Given the description of an element on the screen output the (x, y) to click on. 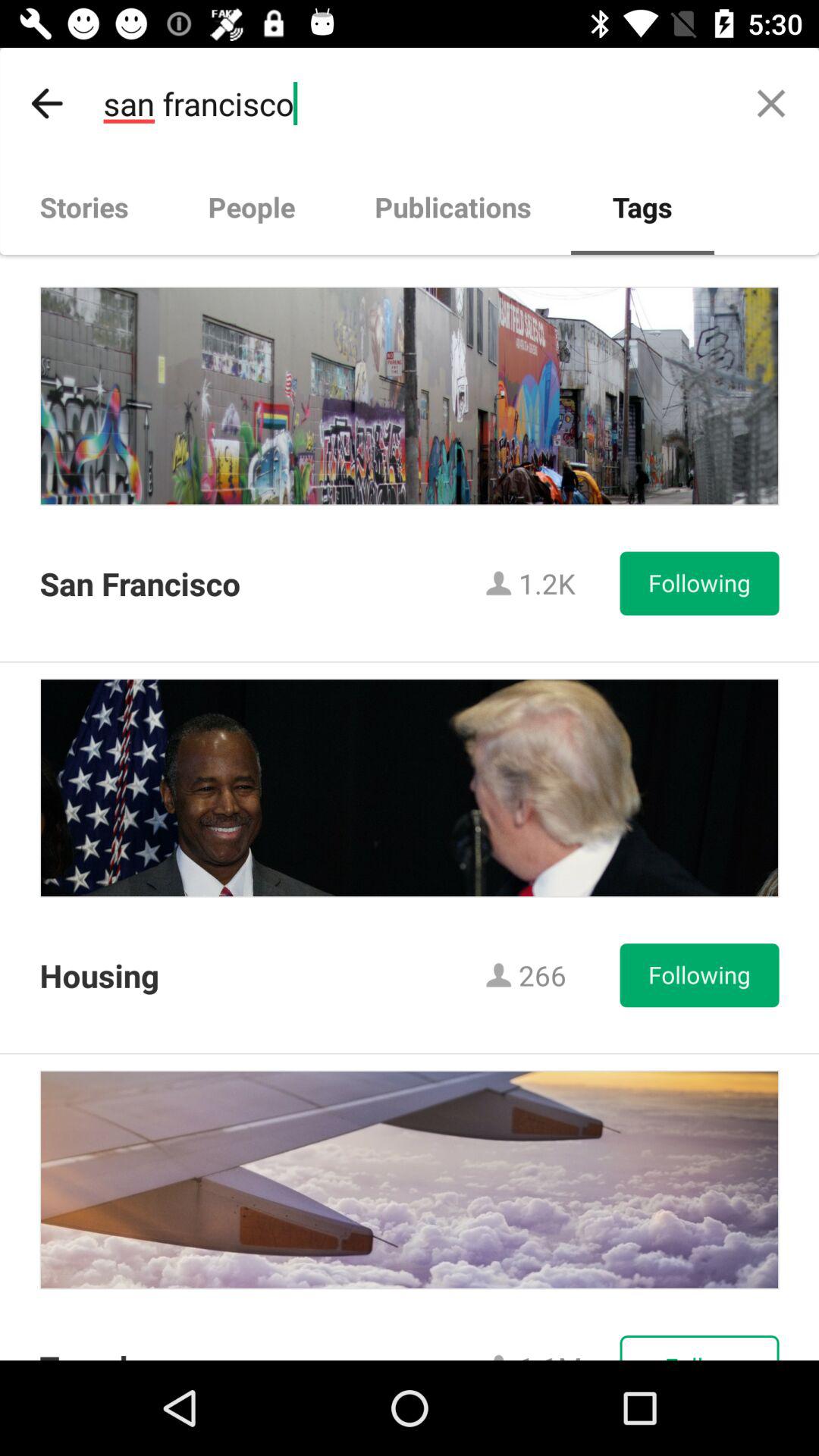
open item next to san francisco item (47, 103)
